Given the description of an element on the screen output the (x, y) to click on. 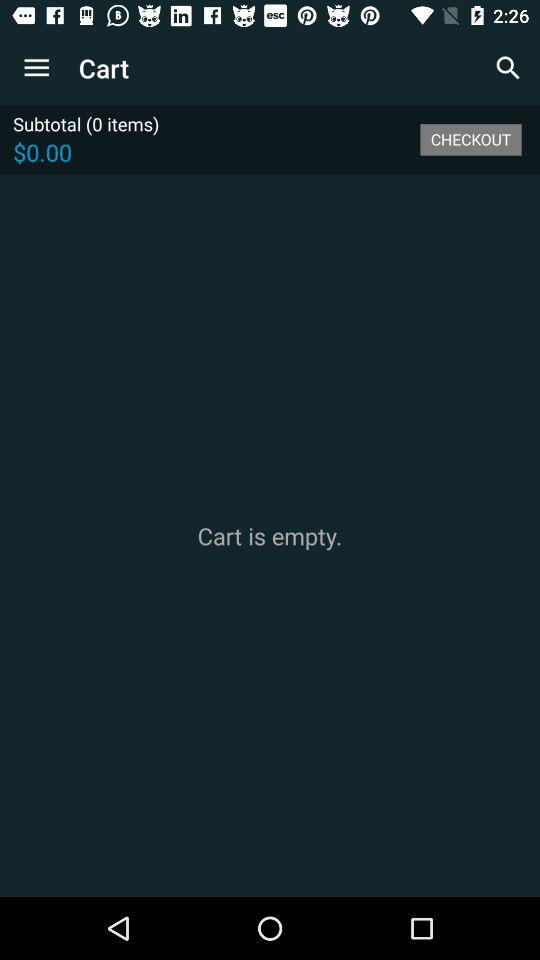
click app to the left of the cart item (36, 68)
